Given the description of an element on the screen output the (x, y) to click on. 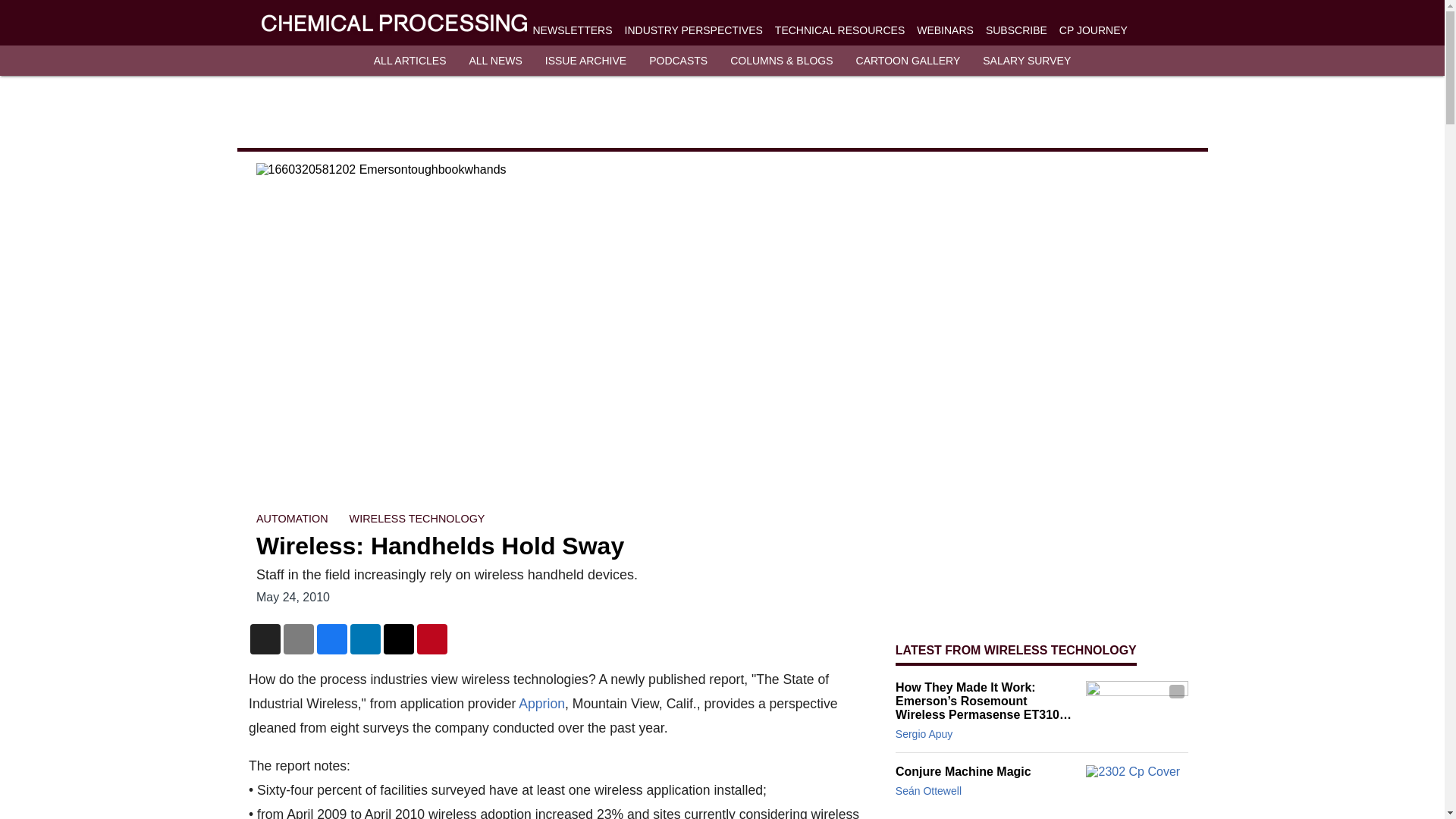
SUBSCRIBE (1015, 30)
TECHNICAL RESOURCES (839, 30)
CARTOON GALLERY (908, 60)
CP JOURNEY (1092, 30)
AUTOMATION (292, 518)
PODCASTS (678, 60)
ALL ARTICLES (410, 60)
NEWSLETTERS (571, 30)
INDUSTRY PERSPECTIVES (693, 30)
WEBINARS (945, 30)
